Given the description of an element on the screen output the (x, y) to click on. 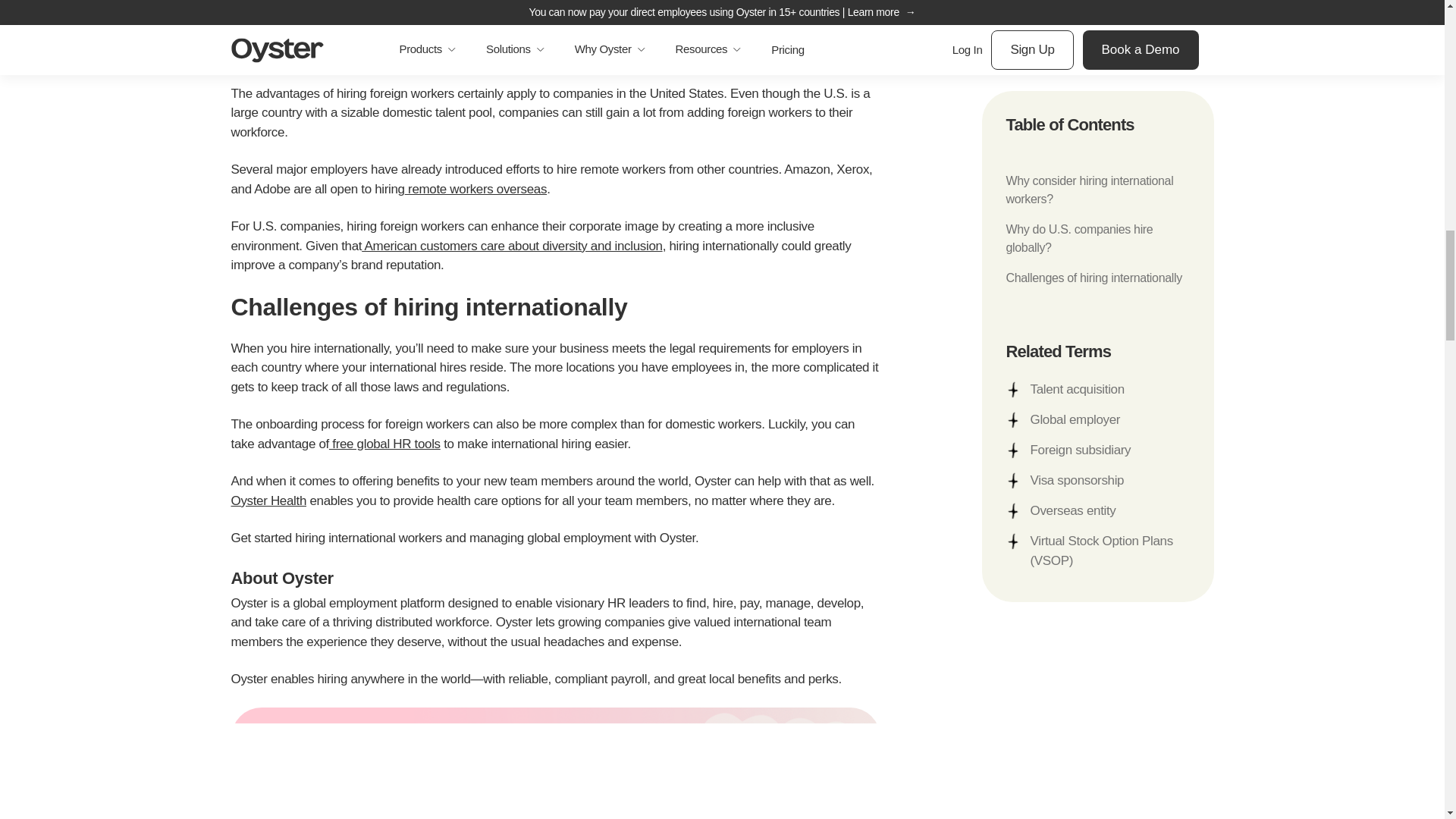
American customers care about diversity and inclusion (511, 246)
remote workers overseas (475, 188)
free global HR tools (385, 443)
